Given the description of an element on the screen output the (x, y) to click on. 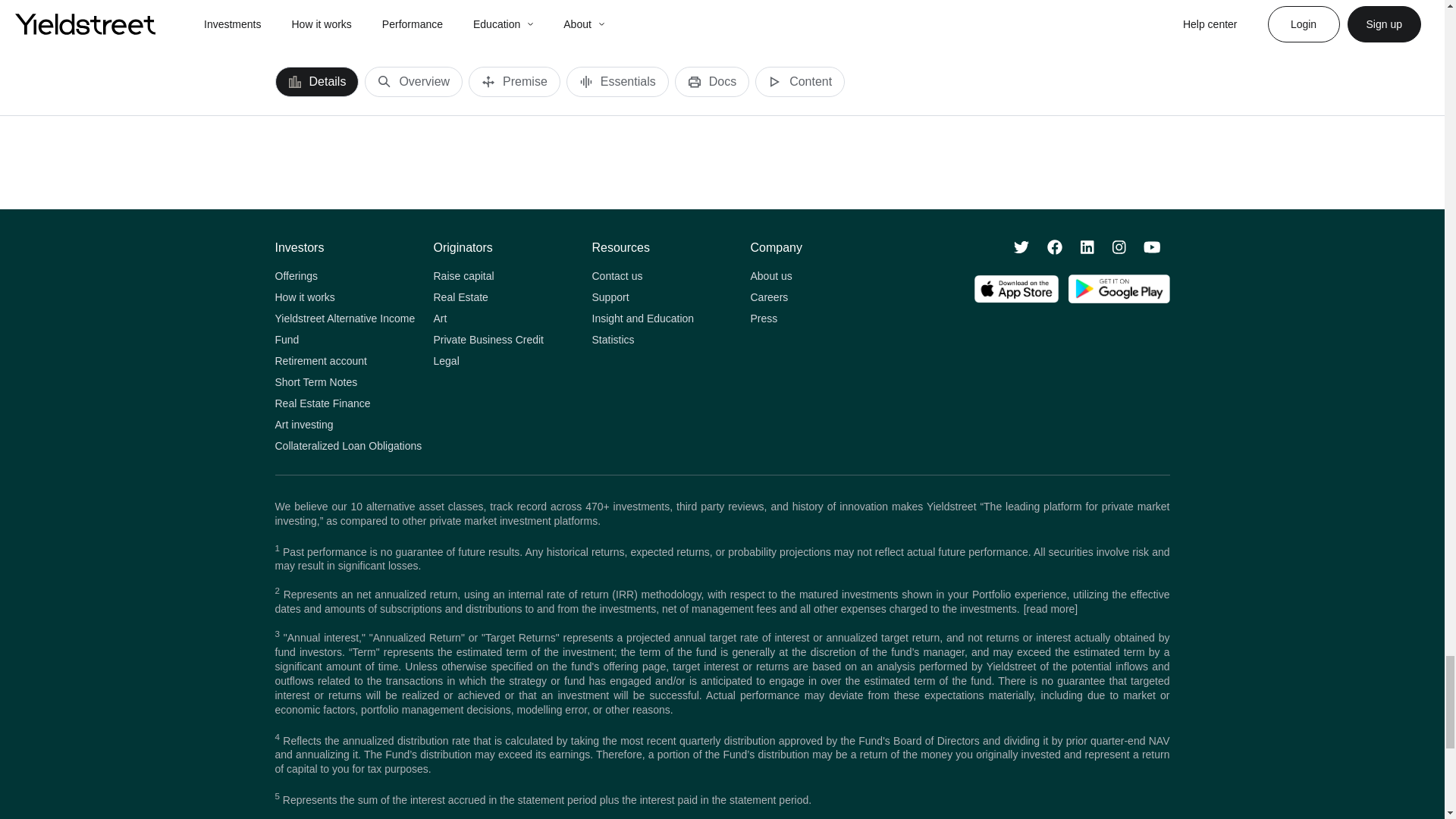
YouTube (1151, 246)
linkedin (1087, 246)
facebook (1054, 246)
twitter (1021, 246)
instagram (1118, 246)
